Given the description of an element on the screen output the (x, y) to click on. 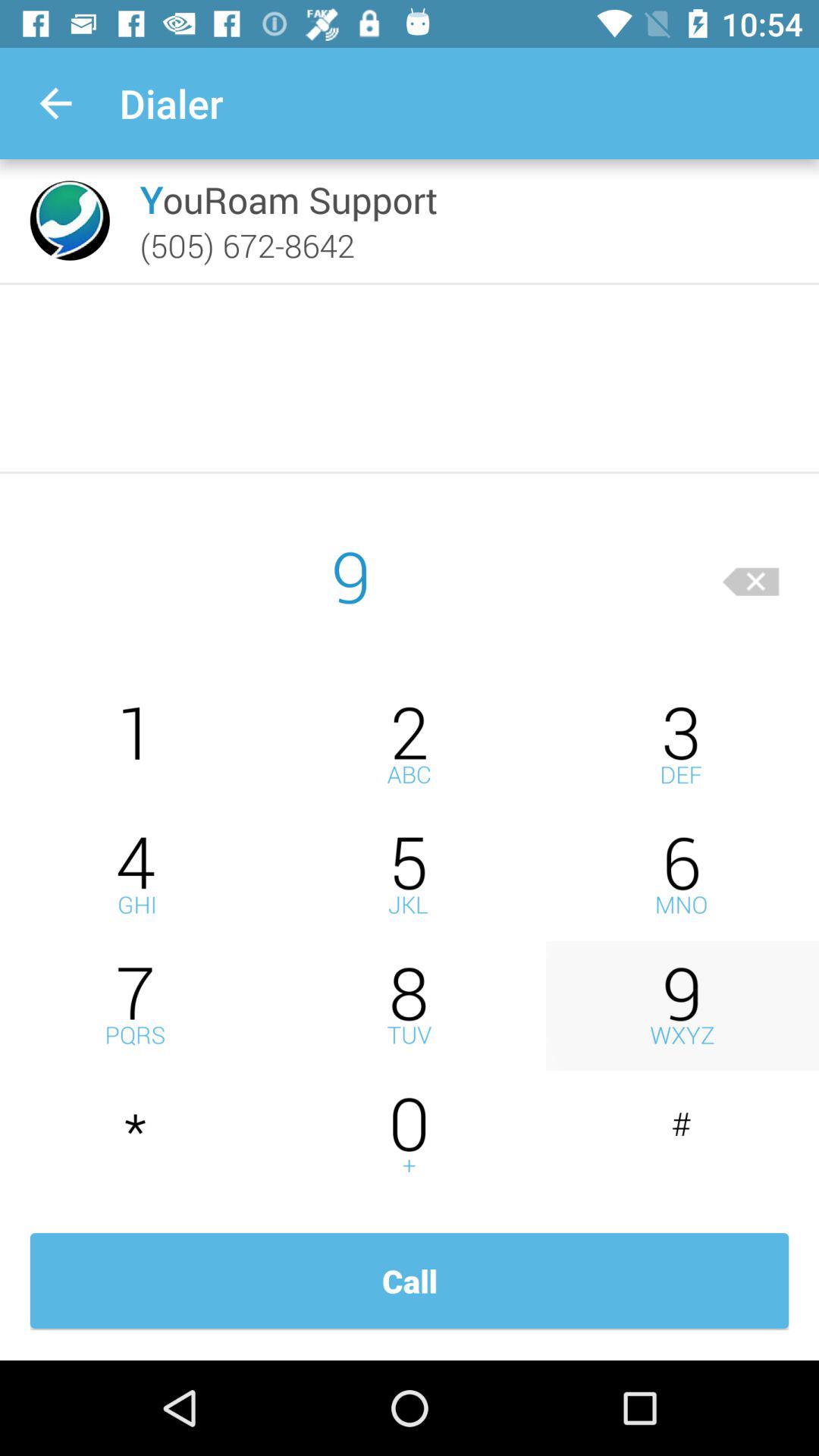
click the number 6 (682, 875)
